Given the description of an element on the screen output the (x, y) to click on. 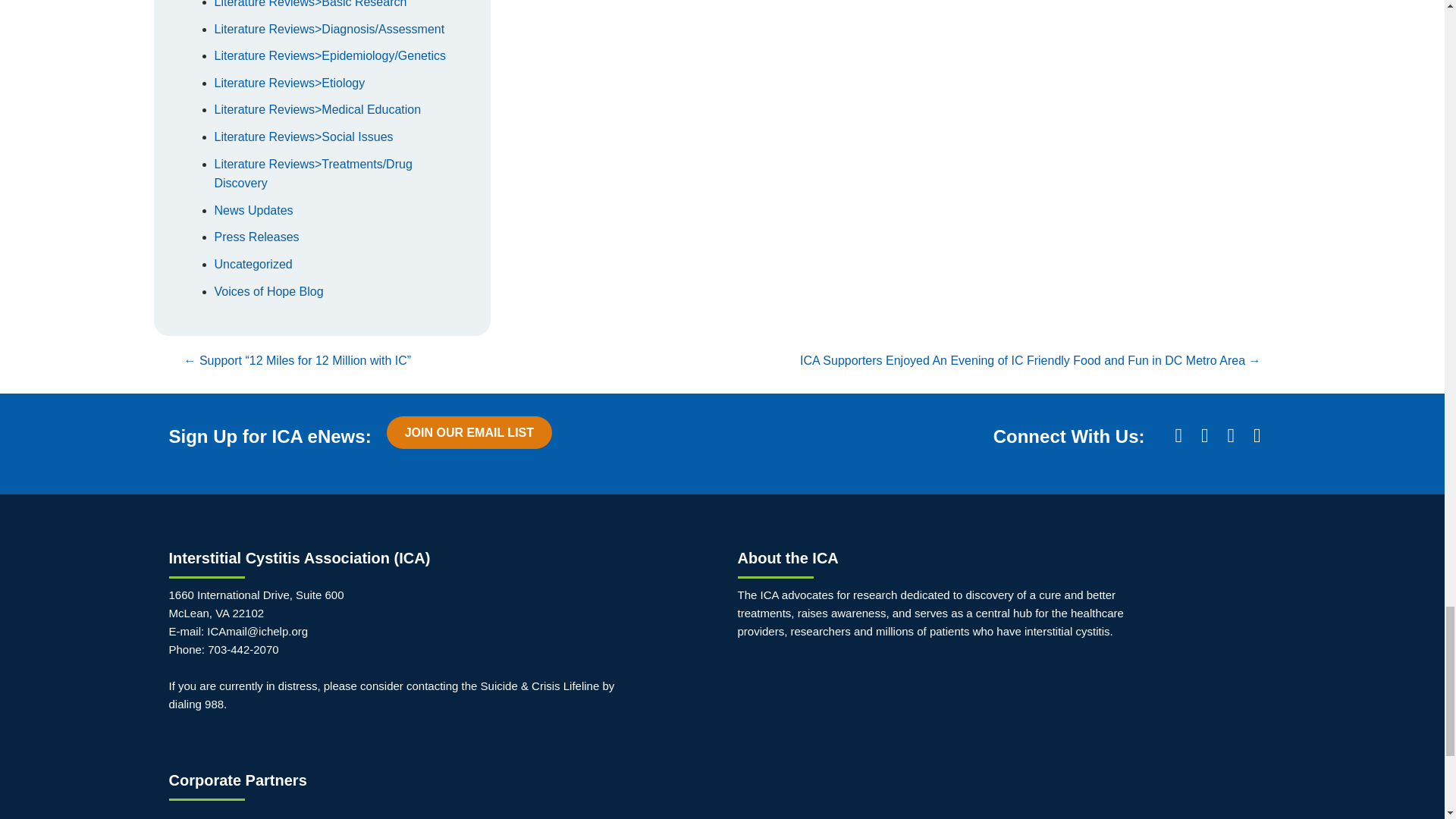
YouTube (1256, 435)
Facebook (1178, 435)
Twitter (1204, 435)
Instagram (1230, 435)
